Given the description of an element on the screen output the (x, y) to click on. 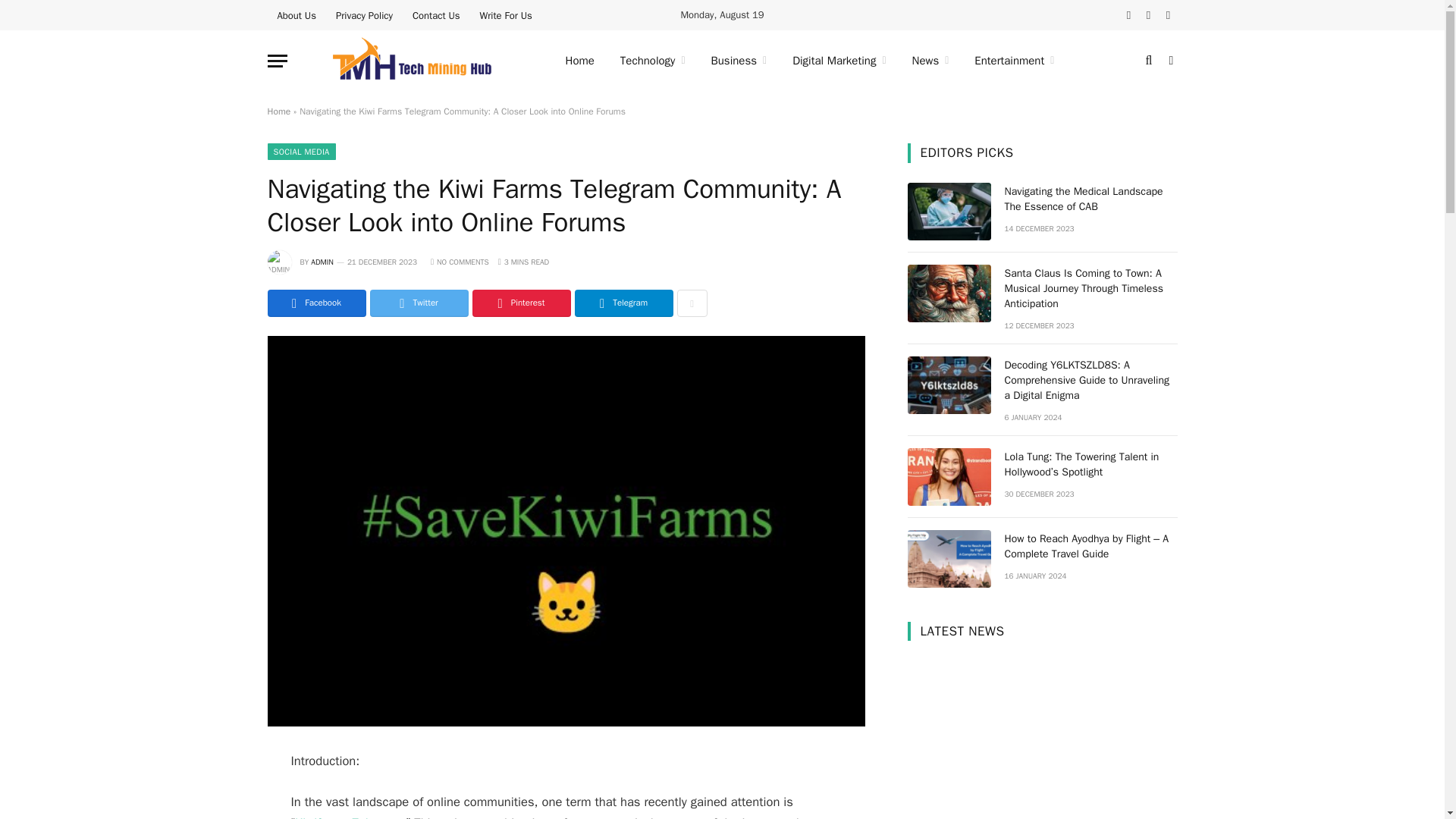
Tech Mining Hub (411, 60)
Share on Facebook (315, 302)
Share on Pinterest (520, 302)
Share on Telegram (623, 302)
Switch to Dark Design - easier on eyes. (1169, 60)
Posts by Admin (322, 261)
